Given the description of an element on the screen output the (x, y) to click on. 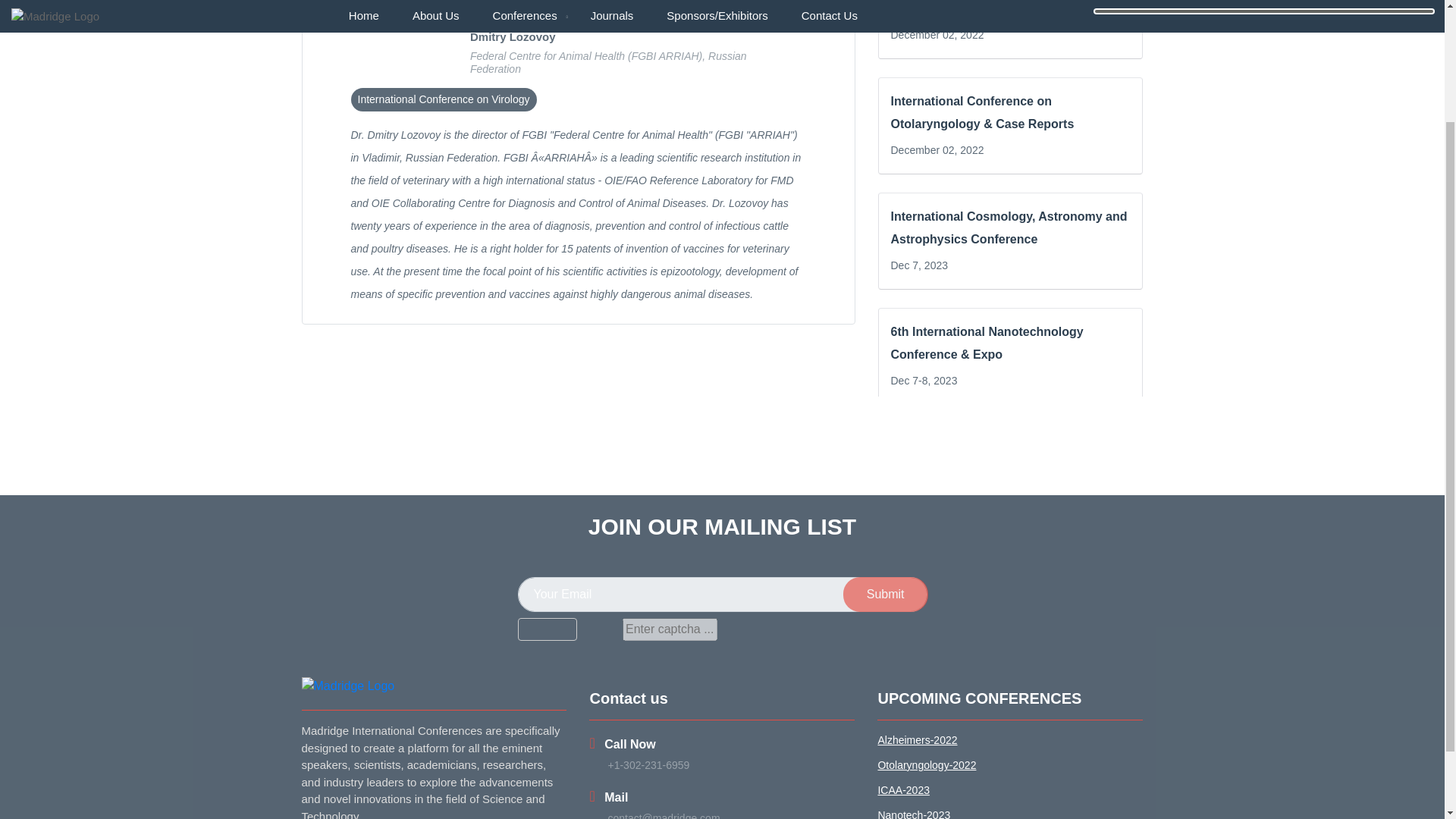
International Conference on Virology (442, 99)
Alzheimers-2022 (1009, 740)
ICAA-2023 (1009, 790)
Submit (885, 594)
Otolaryngology-2022 (1009, 765)
